Given the description of an element on the screen output the (x, y) to click on. 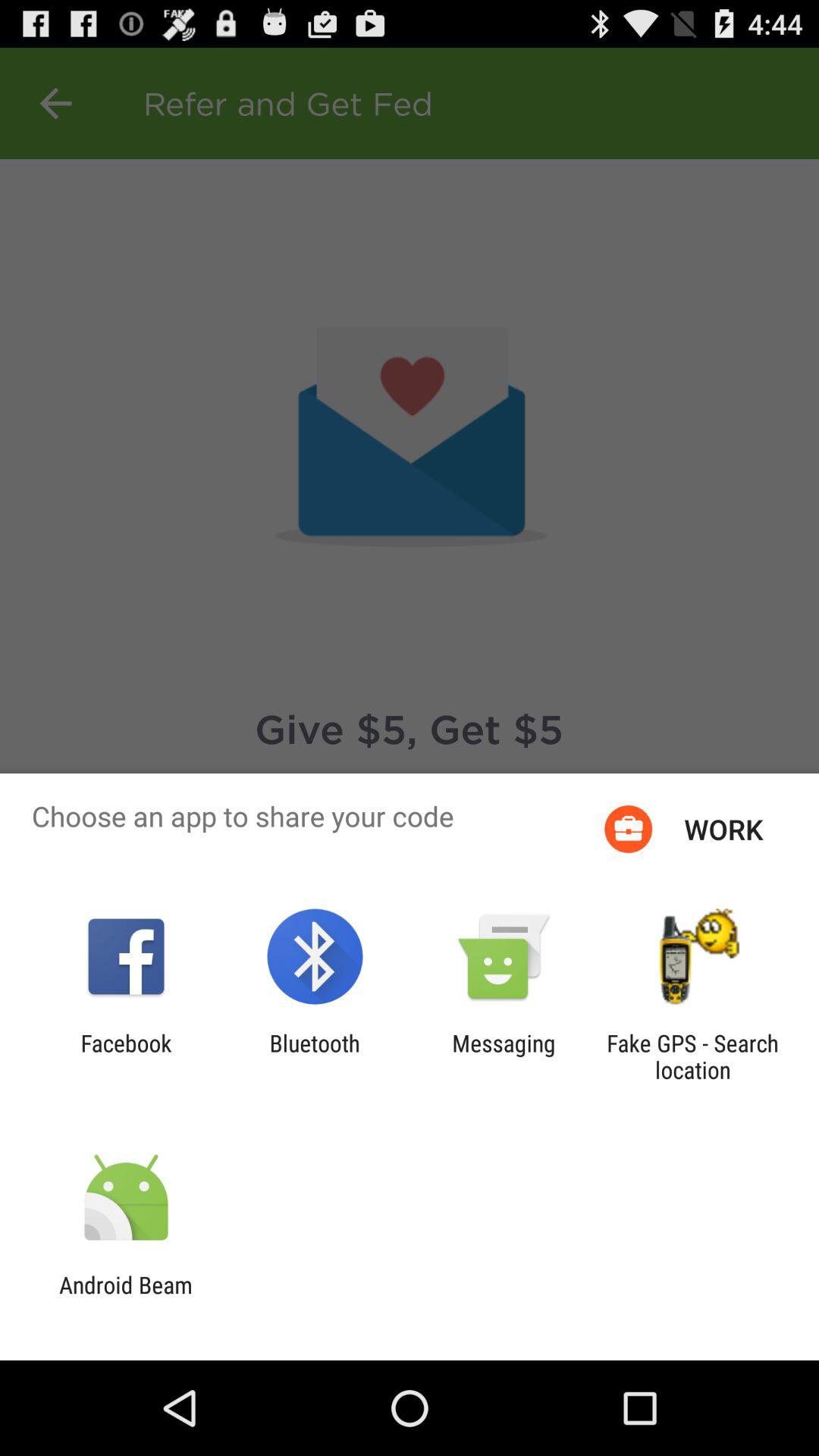
press the app to the left of the messaging icon (314, 1056)
